Given the description of an element on the screen output the (x, y) to click on. 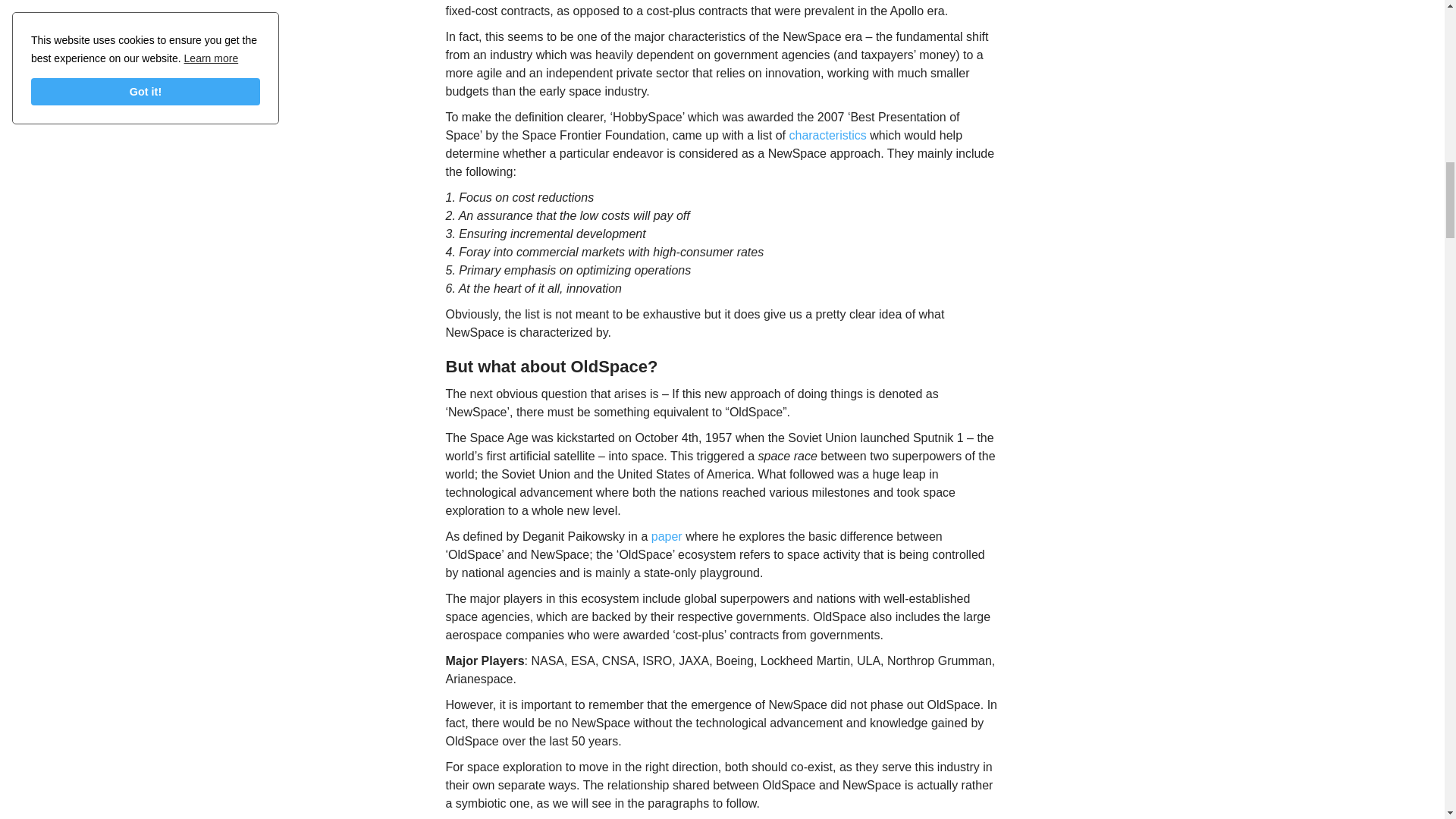
NewSpace - Is this the Advent of the Second Space Age? (827, 134)
characteristics (827, 134)
paper (666, 535)
